Given the description of an element on the screen output the (x, y) to click on. 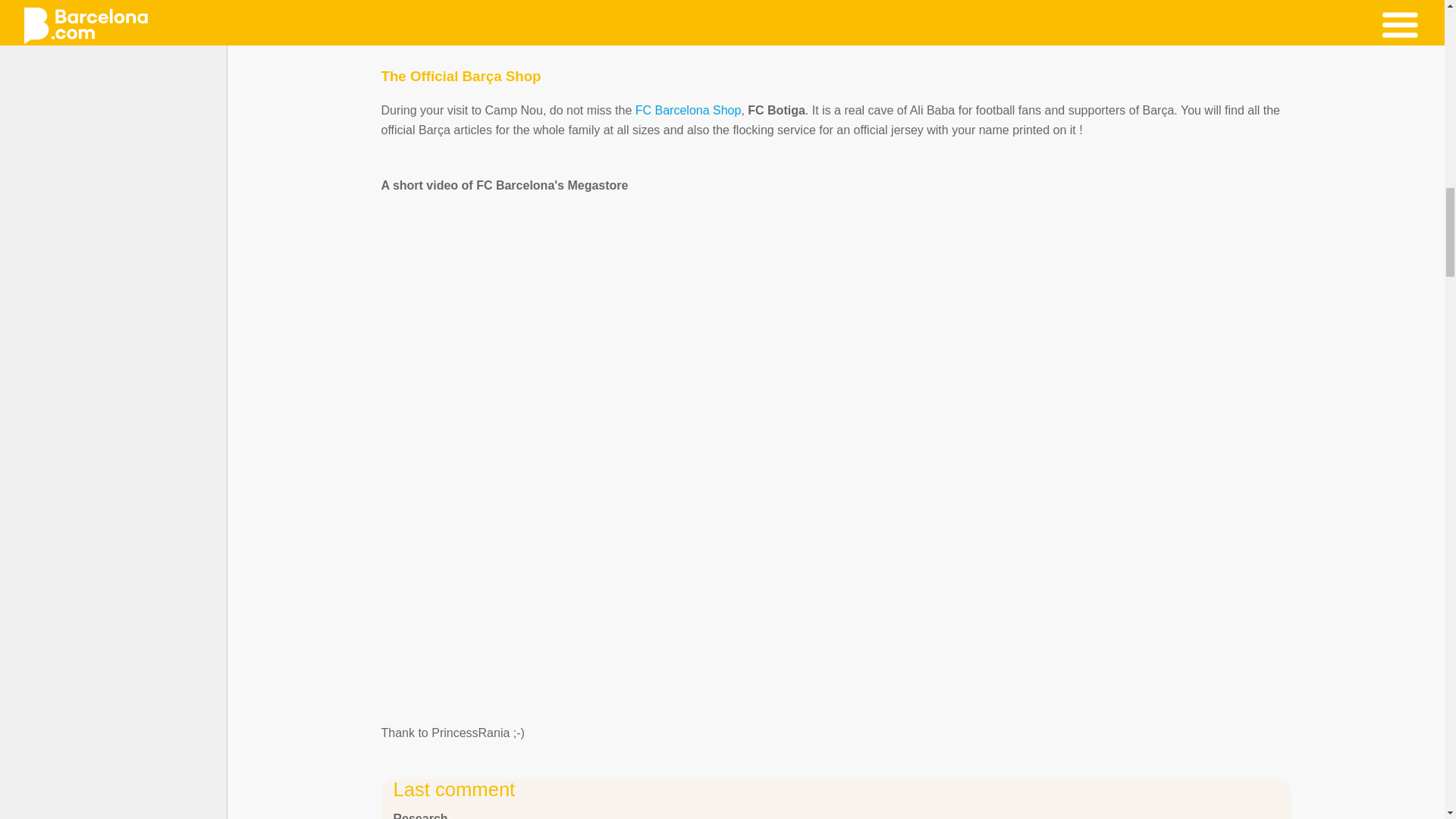
FC Barcelona Shop (687, 110)
FC Barcelona Shop (687, 110)
